Given the description of an element on the screen output the (x, y) to click on. 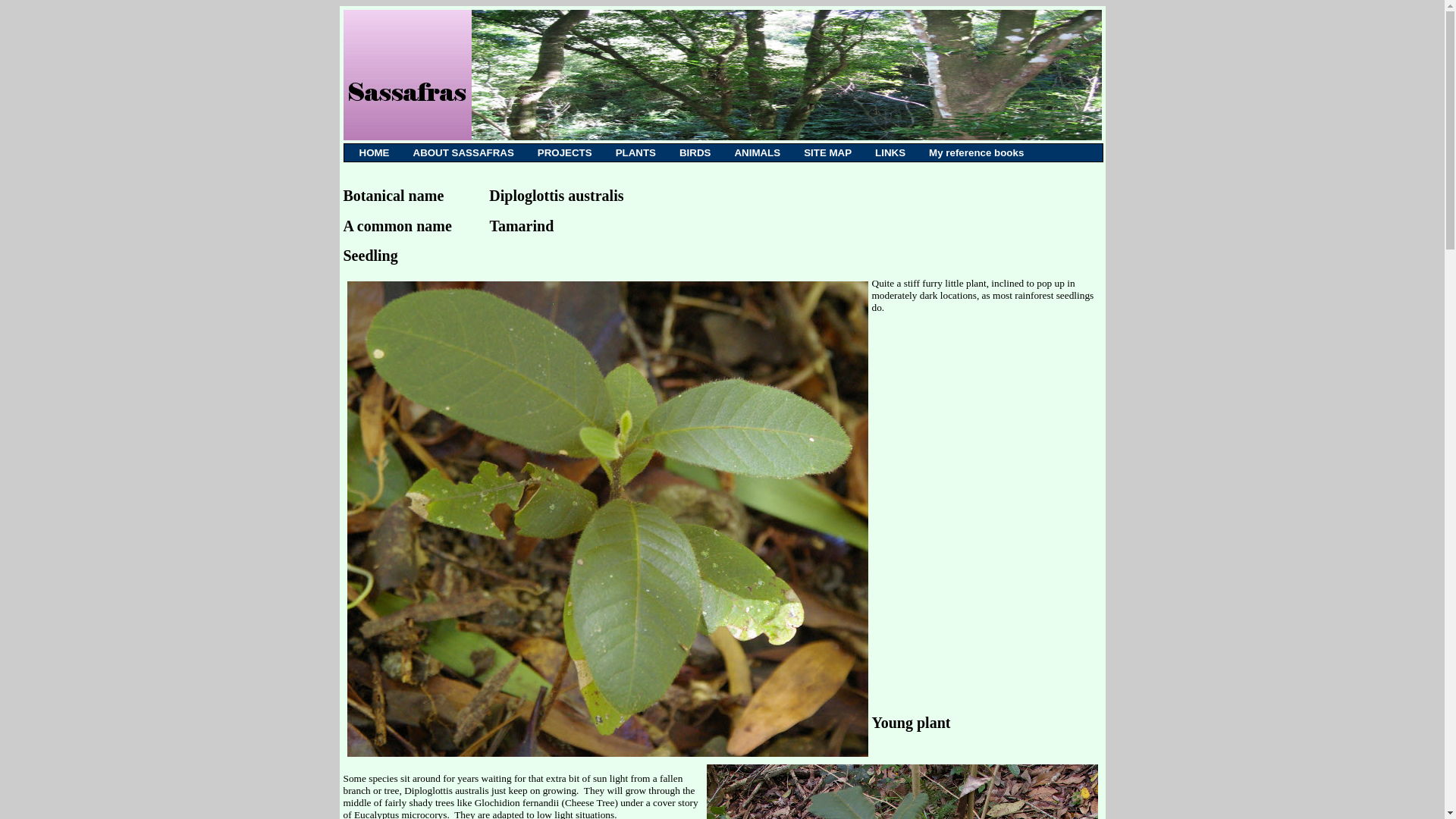
ABOUT SASSAFRAS (462, 152)
PLANTS (635, 152)
ANIMALS (756, 152)
LINKS (890, 152)
PROJECTS (564, 152)
BIRDS (694, 152)
SITE MAP (827, 152)
My reference books (976, 152)
HOME (373, 152)
